Given the description of an element on the screen output the (x, y) to click on. 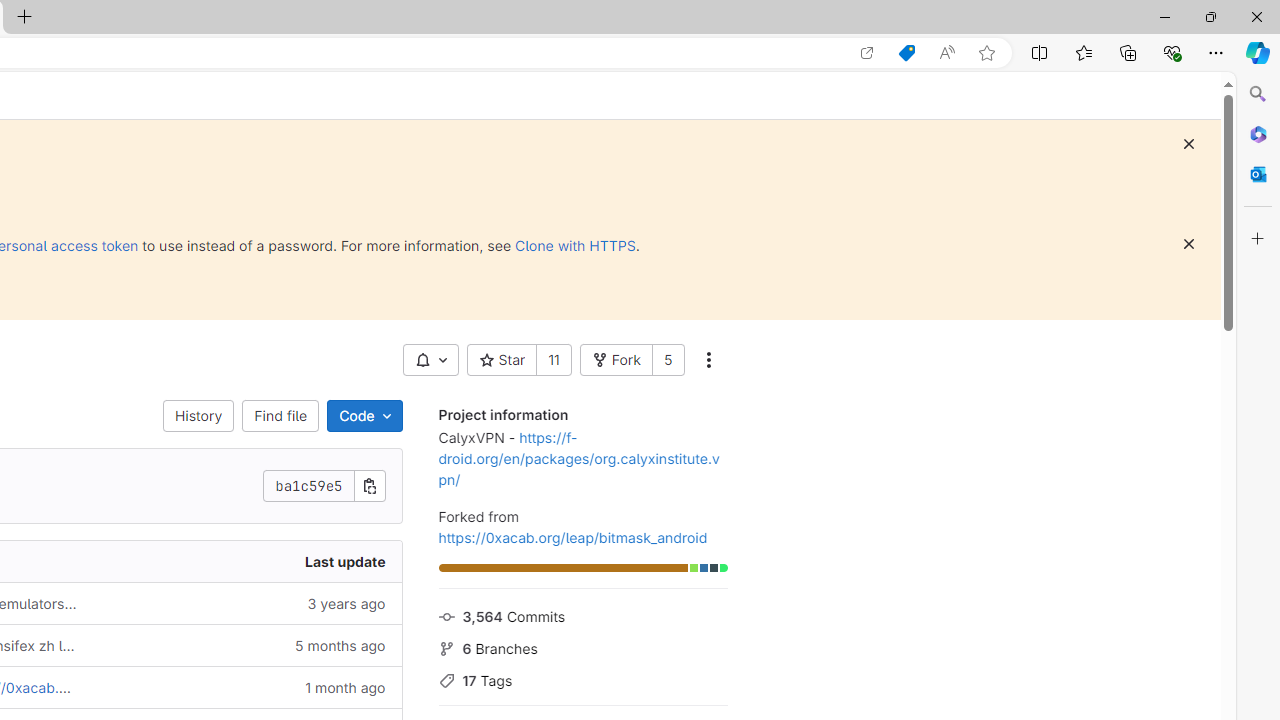
3,564 Commits (582, 615)
History (198, 416)
5 (667, 359)
5 months ago (247, 645)
Microsoft 365 (1258, 133)
17 Tags (582, 678)
More actions (708, 359)
Last update (247, 561)
